Given the description of an element on the screen output the (x, y) to click on. 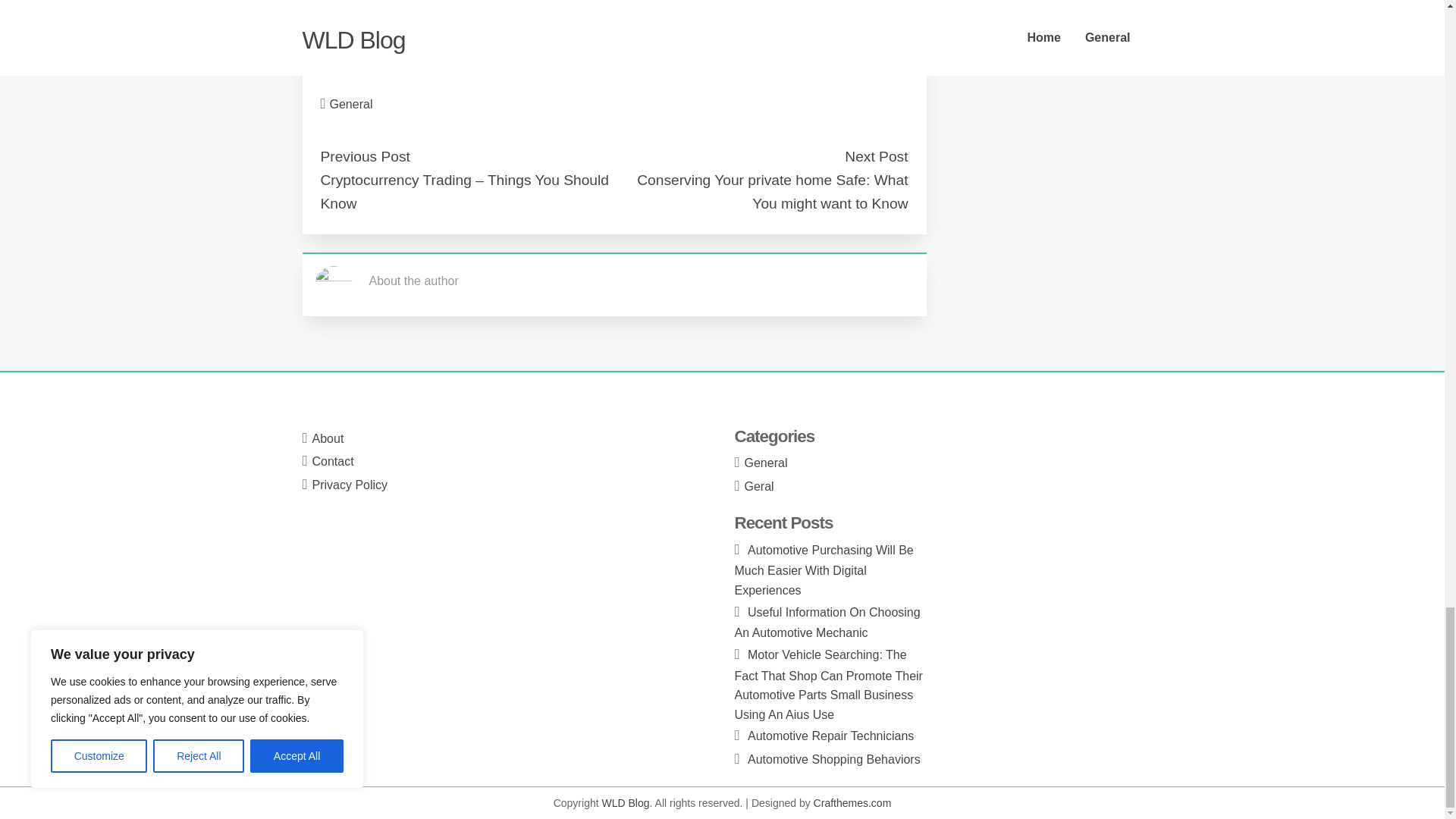
Privacy Policy (350, 484)
Previous Post (364, 156)
General (351, 103)
Contact (333, 461)
Useful Information On Choosing An Automotive Mechanic (826, 622)
About (328, 438)
Geral (759, 486)
General (765, 462)
